Given the description of an element on the screen output the (x, y) to click on. 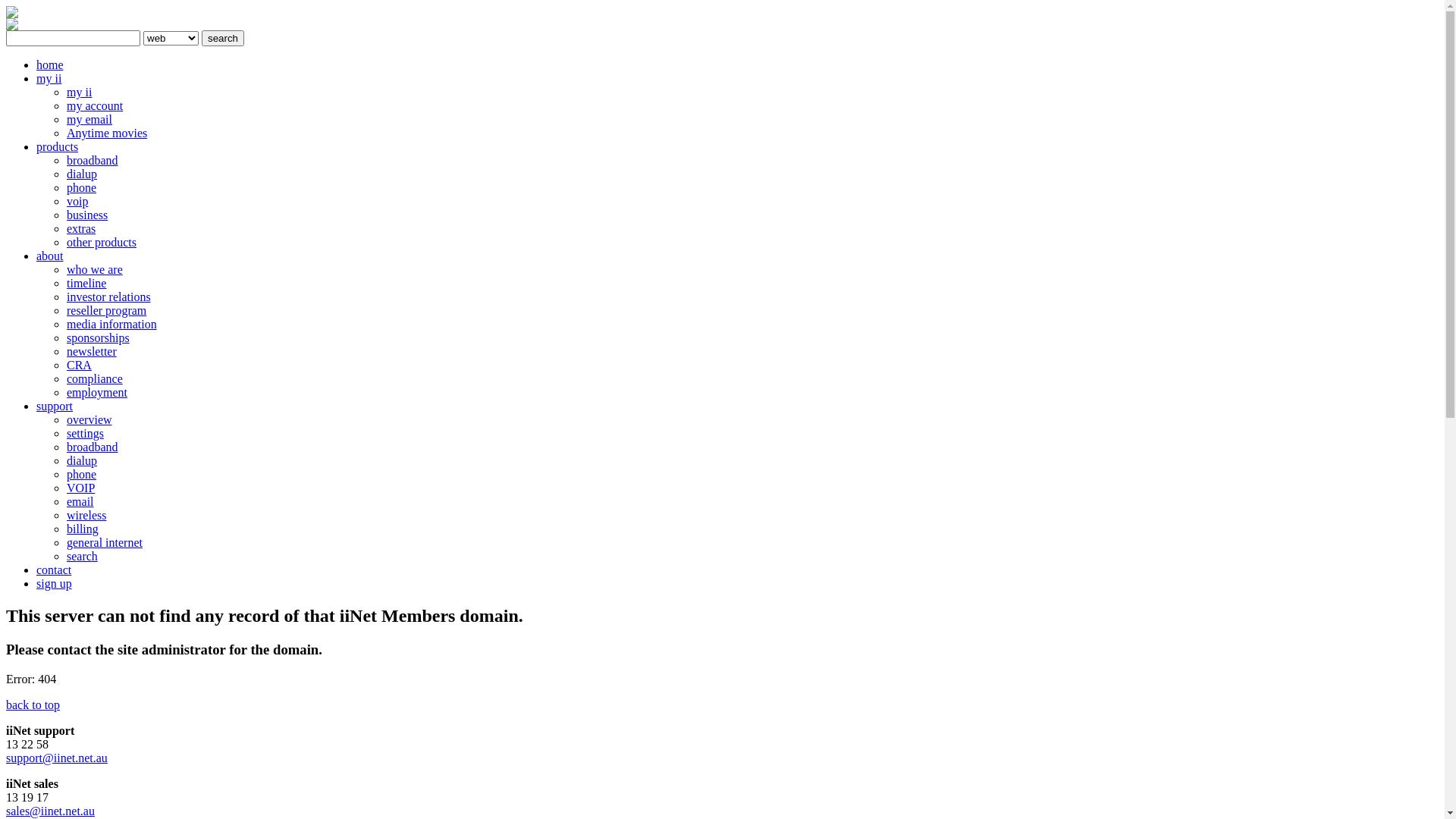
extras Element type: text (80, 228)
other products Element type: text (101, 241)
sales@iinet.net.au Element type: text (50, 810)
search Element type: text (222, 38)
CRA Element type: text (78, 364)
wireless Element type: text (86, 514)
media information Element type: text (111, 323)
sponsorships Element type: text (97, 337)
business Element type: text (86, 214)
dialup Element type: text (81, 460)
search Element type: text (81, 555)
dialup Element type: text (81, 173)
about Element type: text (49, 255)
products Element type: text (57, 146)
my account Element type: text (94, 105)
support Element type: text (54, 405)
my ii Element type: text (78, 91)
investor relations Element type: text (108, 296)
Anytime movies Element type: text (106, 132)
who we are Element type: text (94, 269)
phone Element type: text (81, 187)
overview Element type: text (89, 419)
newsletter Element type: text (91, 351)
email Element type: text (80, 501)
back to top Element type: text (32, 704)
VOIP Element type: text (80, 487)
support@iinet.net.au Element type: text (56, 757)
voip Element type: text (76, 200)
broadband Element type: text (92, 159)
reseller program Element type: text (106, 310)
timeline Element type: text (86, 282)
contact Element type: text (53, 569)
sign up Element type: text (54, 583)
general internet Element type: text (104, 542)
home Element type: text (49, 64)
settings Element type: text (84, 432)
my email Element type: text (89, 118)
broadband Element type: text (92, 446)
billing Element type: text (82, 528)
my ii Element type: text (48, 78)
employment Element type: text (96, 391)
phone Element type: text (81, 473)
compliance Element type: text (94, 378)
